Given the description of an element on the screen output the (x, y) to click on. 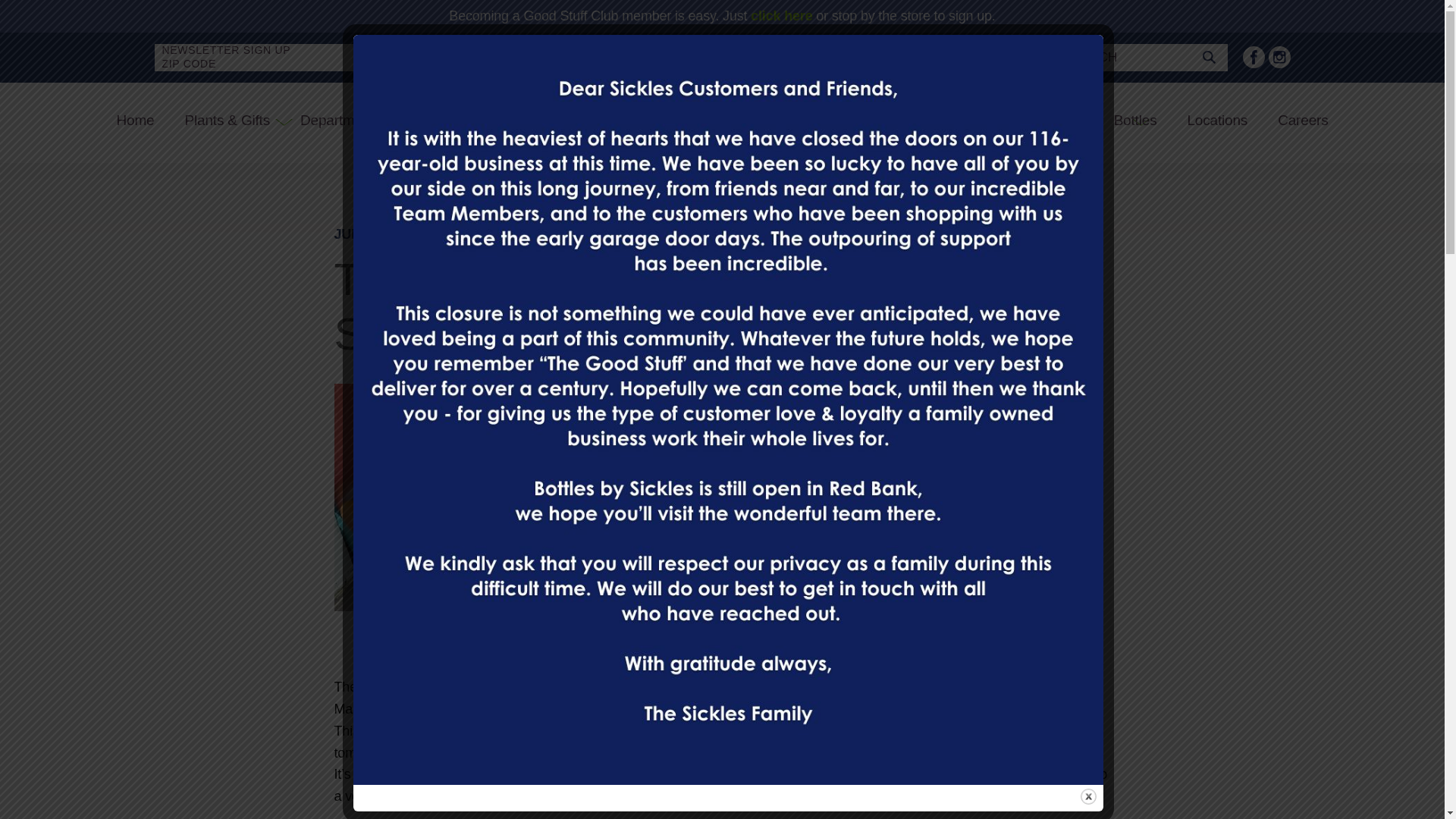
Store Sales (915, 120)
Good Stuff Club (1032, 120)
Sickles - Since 1908 (615, 119)
Close (1088, 796)
Departments (340, 120)
instagram (1279, 56)
click here (781, 15)
facebook (1252, 56)
